Given the description of an element on the screen output the (x, y) to click on. 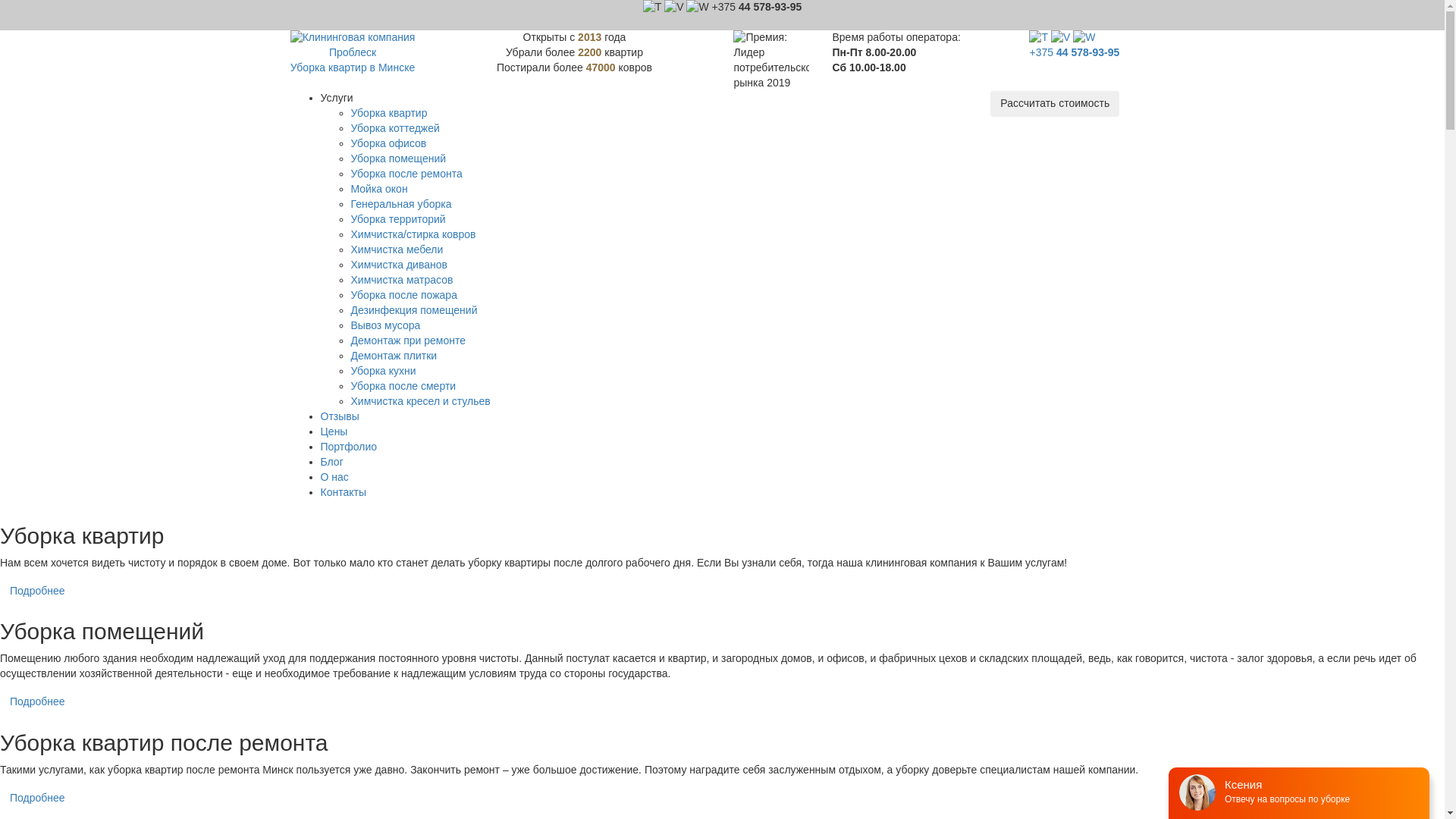
+375 44 578-93-95 Element type: text (1074, 52)
+375 44 578-93-95 Element type: text (757, 6)
